Given the description of an element on the screen output the (x, y) to click on. 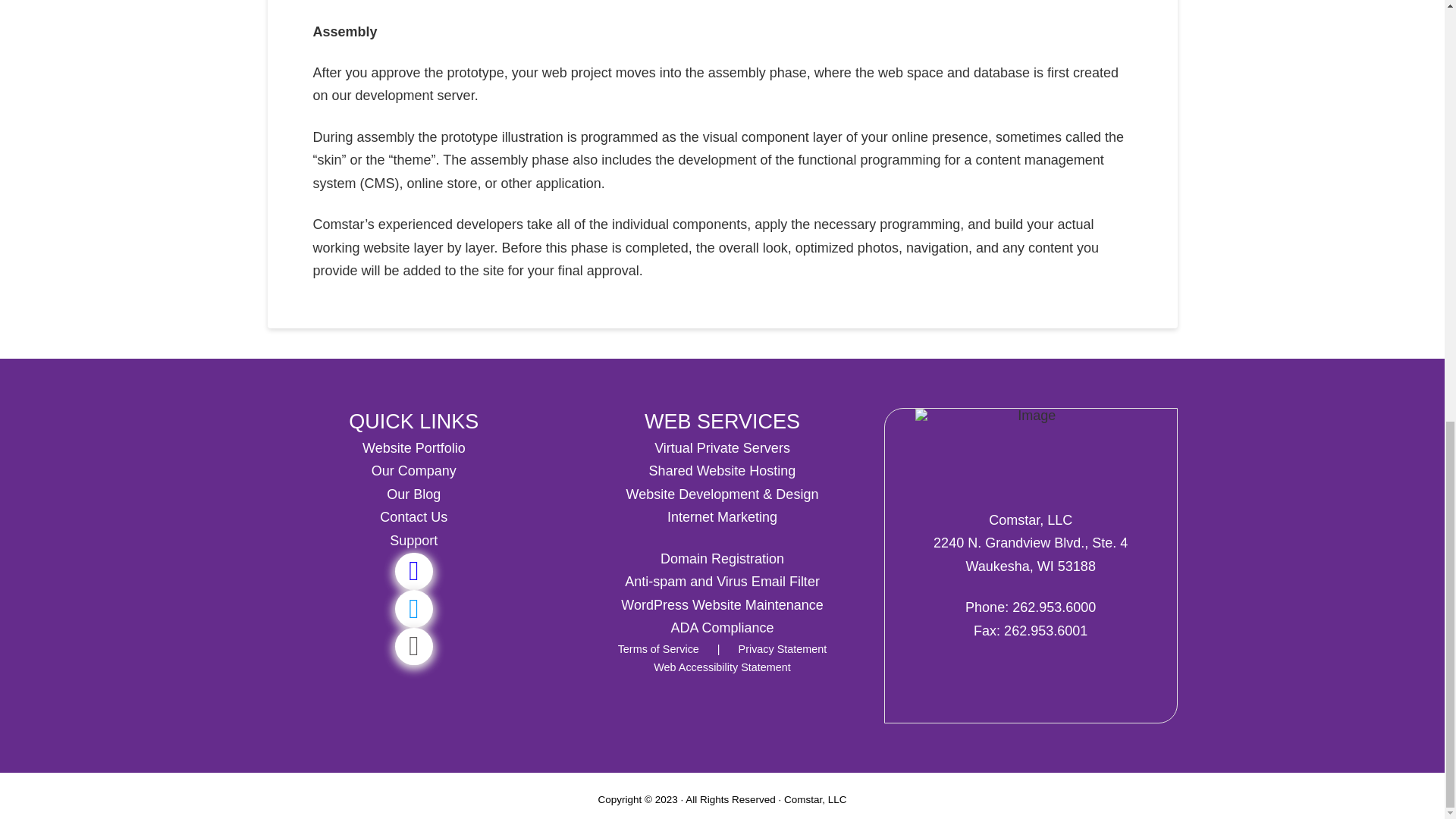
Domain Registration (722, 558)
    Privacy Statement (776, 648)
Anti-spam and Virus Email Filter (721, 581)
ADA Compliance (721, 627)
Terms of Service  (659, 648)
Website Portfolio (413, 447)
262.953.6000 (1053, 607)
WordPress Website Maintenance (721, 604)
Virtual Private Servers (721, 447)
Internet Marketing (721, 516)
